Given the description of an element on the screen output the (x, y) to click on. 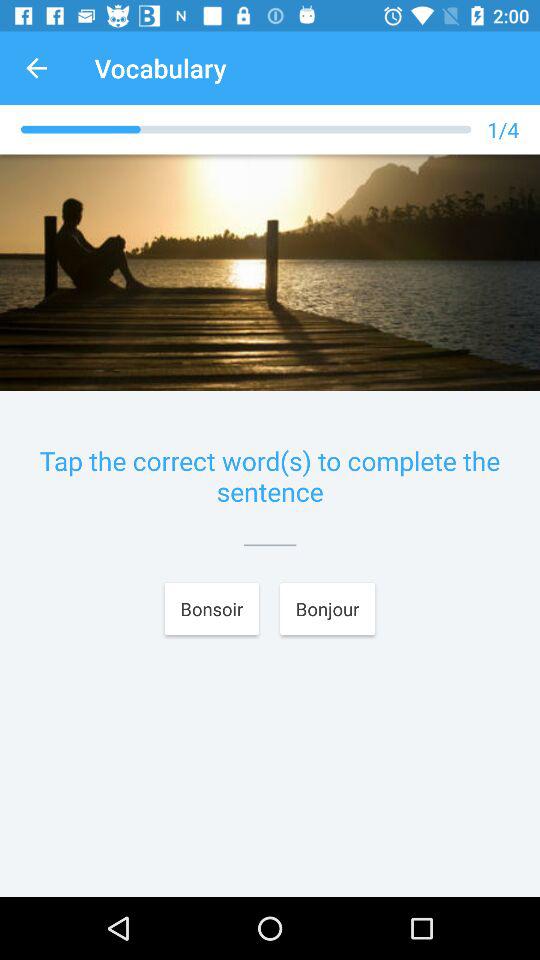
turn off the app next to vocabulary app (36, 68)
